Given the description of an element on the screen output the (x, y) to click on. 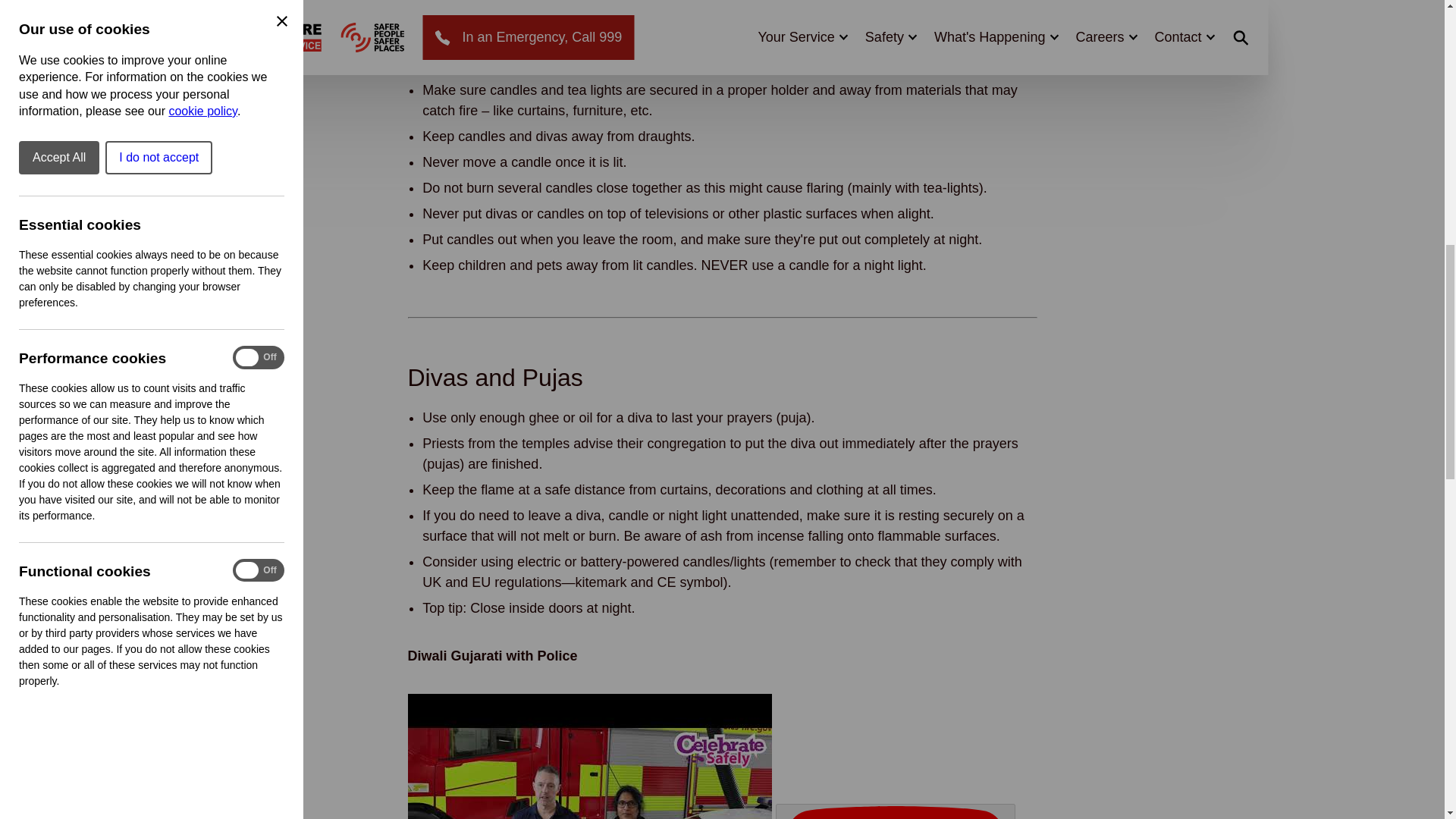
Media (721, 756)
